Given the description of an element on the screen output the (x, y) to click on. 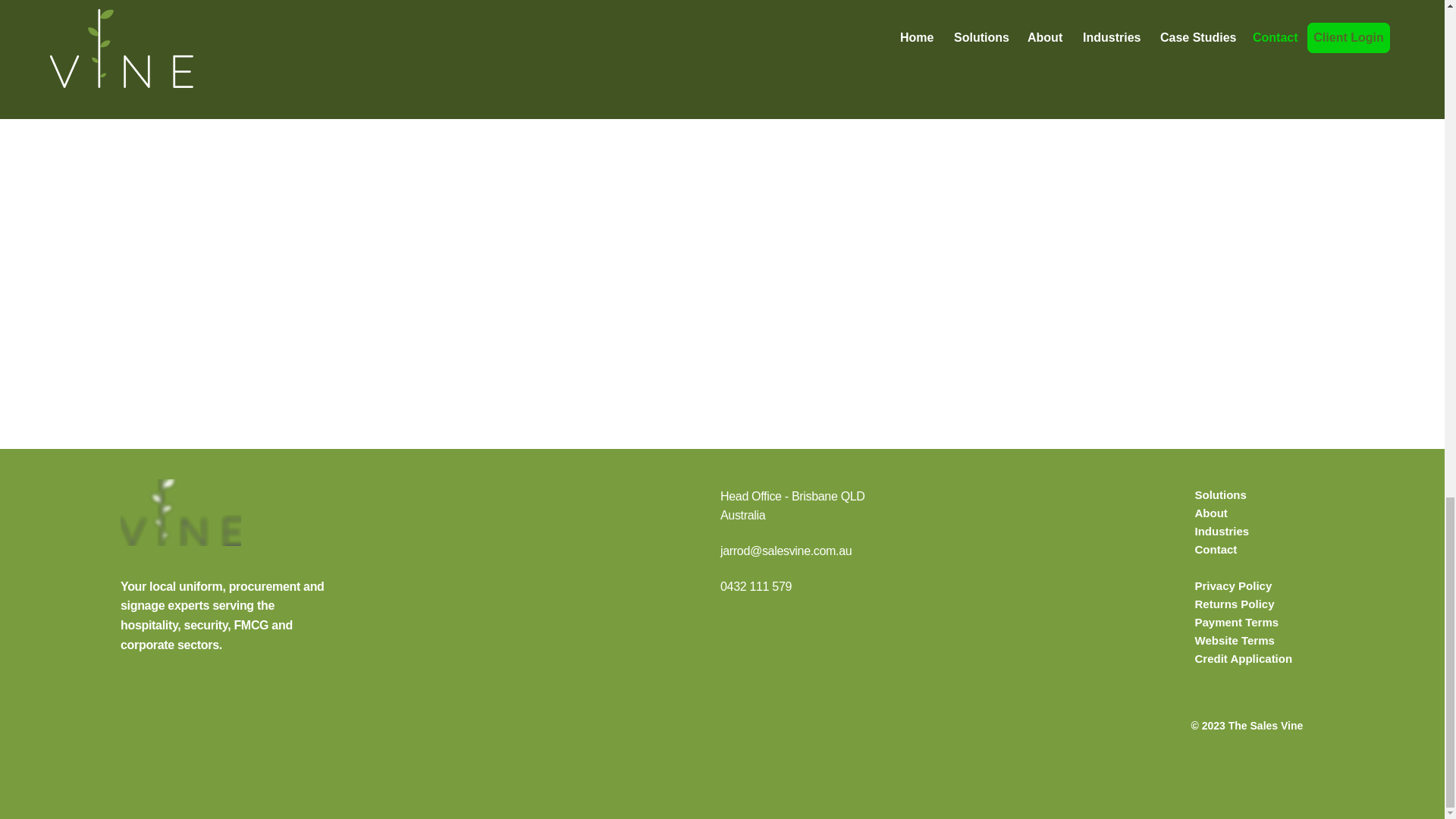
Contact (1216, 549)
e Terms (1252, 640)
0432 111 579 (756, 585)
Returns Policy (1235, 603)
Websit (1213, 640)
About (1211, 512)
Payment Terms (1237, 621)
Solutions (1220, 494)
Industries (1222, 530)
Privacy Policy (1233, 585)
Credit Application (1243, 658)
